Given the description of an element on the screen output the (x, y) to click on. 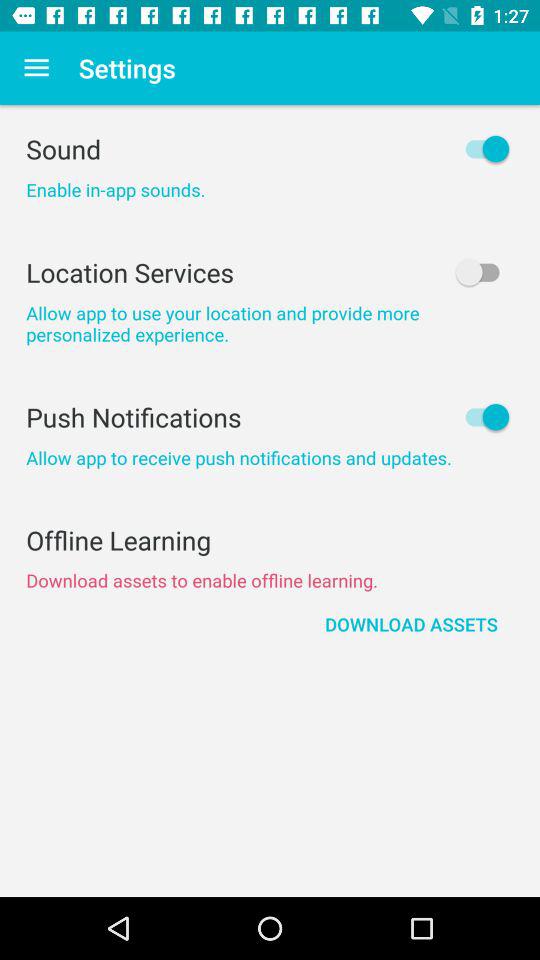
launch icon above enable in app (269, 148)
